Given the description of an element on the screen output the (x, y) to click on. 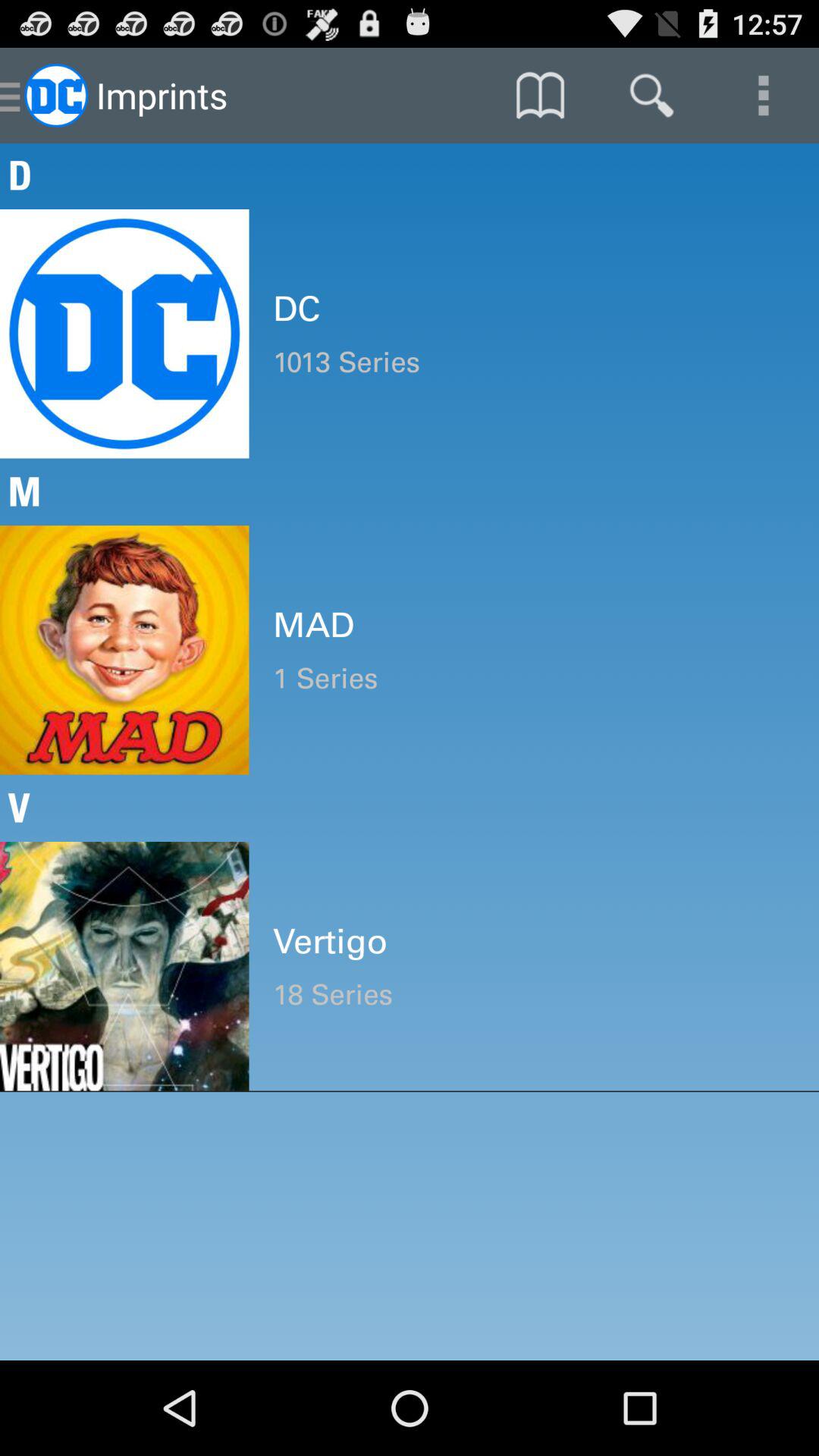
press the item below vertigo item (534, 994)
